Given the description of an element on the screen output the (x, y) to click on. 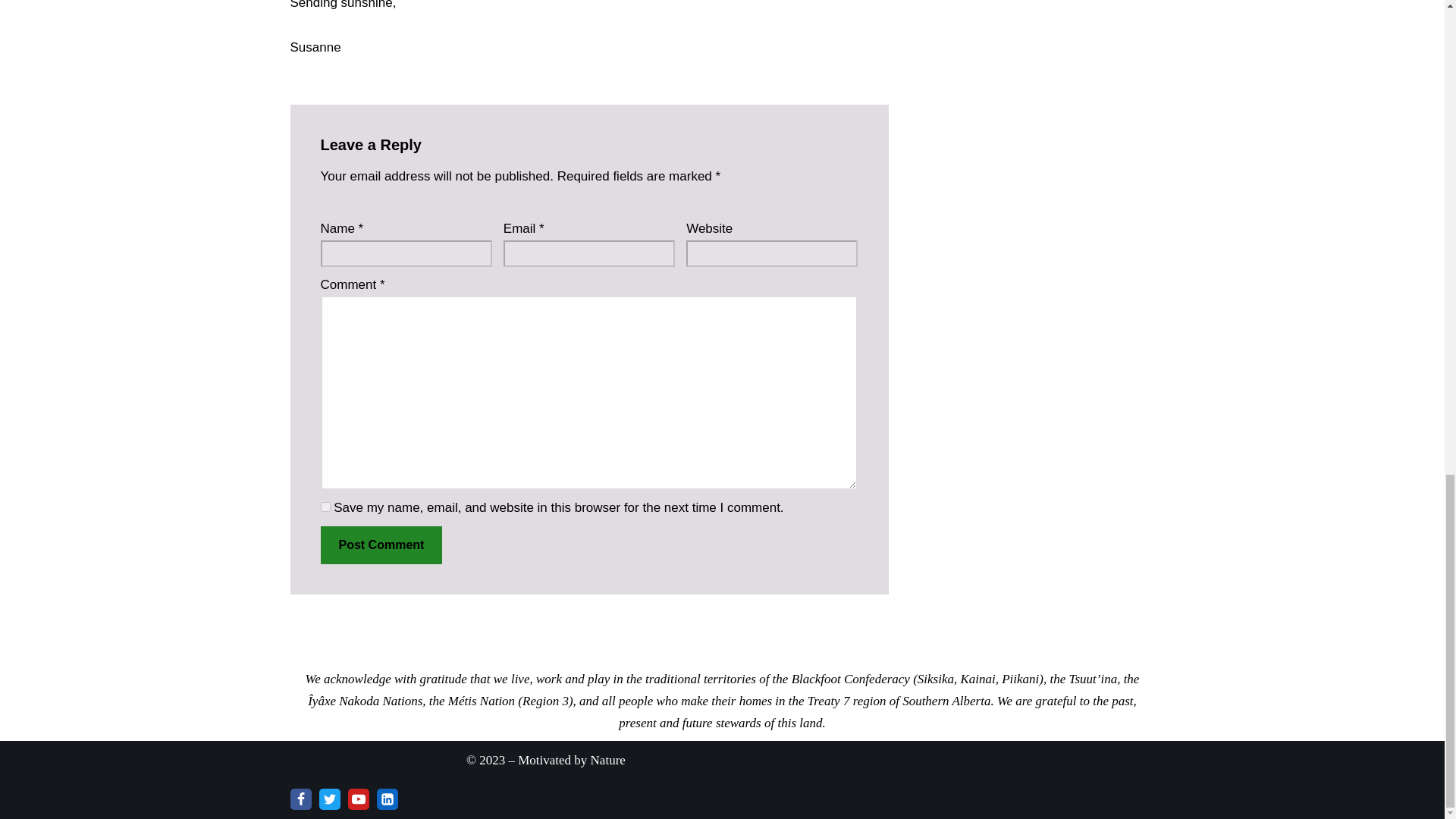
Twitter (328, 798)
Facebook (300, 798)
Post Comment (381, 545)
LinkedIn (386, 798)
Youtube (357, 798)
yes (325, 506)
Post Comment (381, 545)
